Given the description of an element on the screen output the (x, y) to click on. 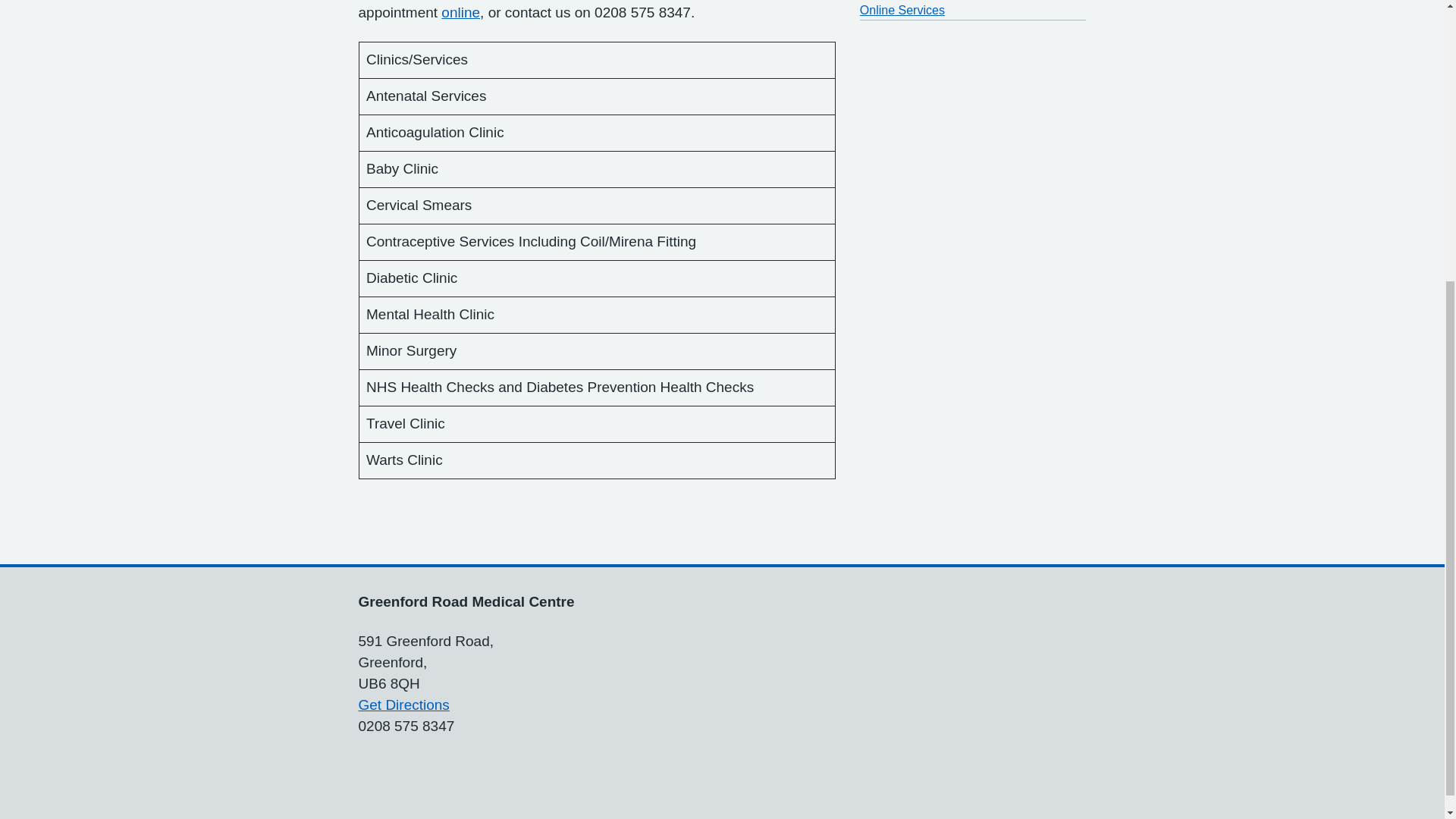
online (460, 12)
Get Directions (403, 704)
Online Services (902, 10)
